Given the description of an element on the screen output the (x, y) to click on. 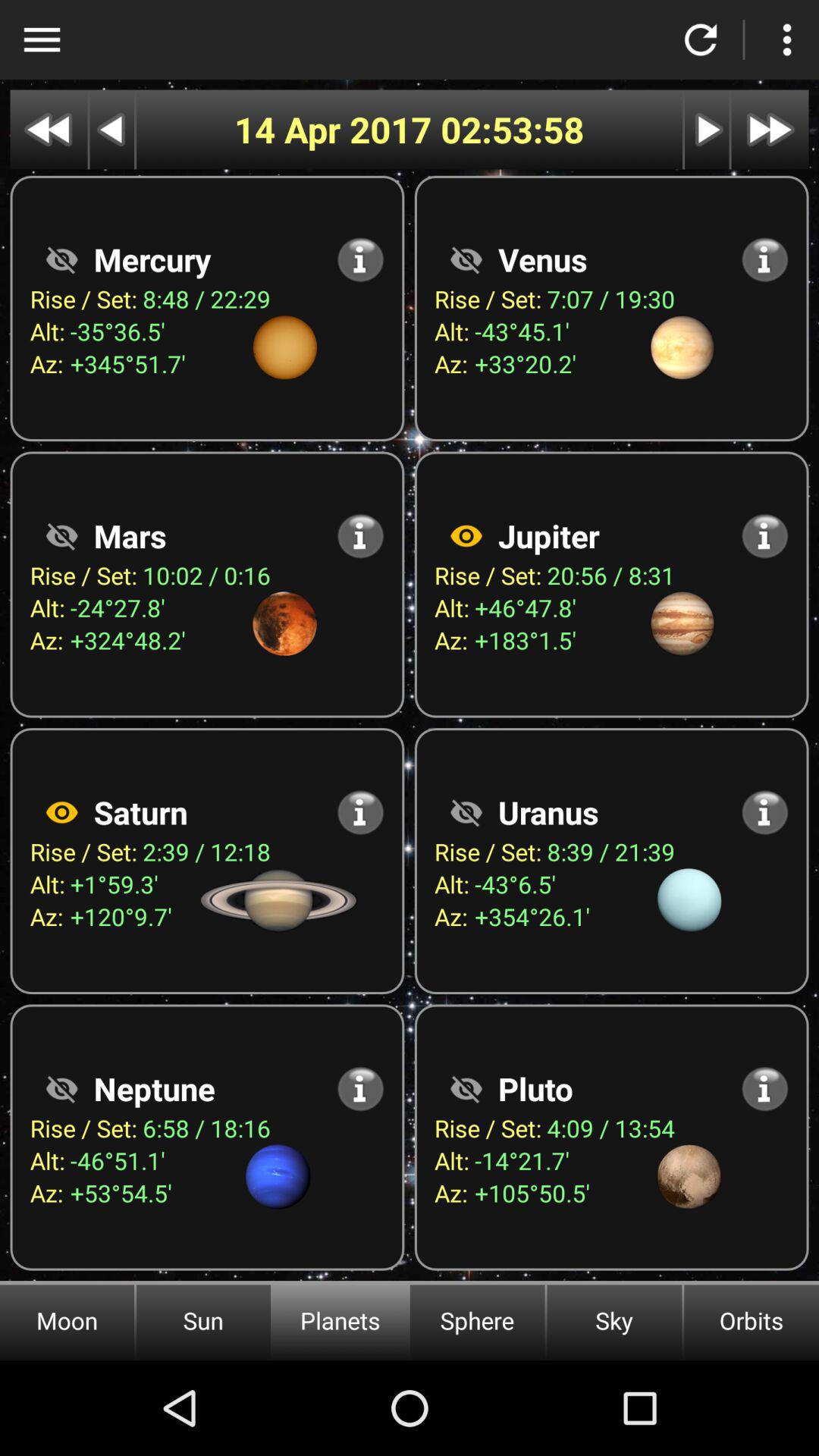
more information (360, 1088)
